Given the description of an element on the screen output the (x, y) to click on. 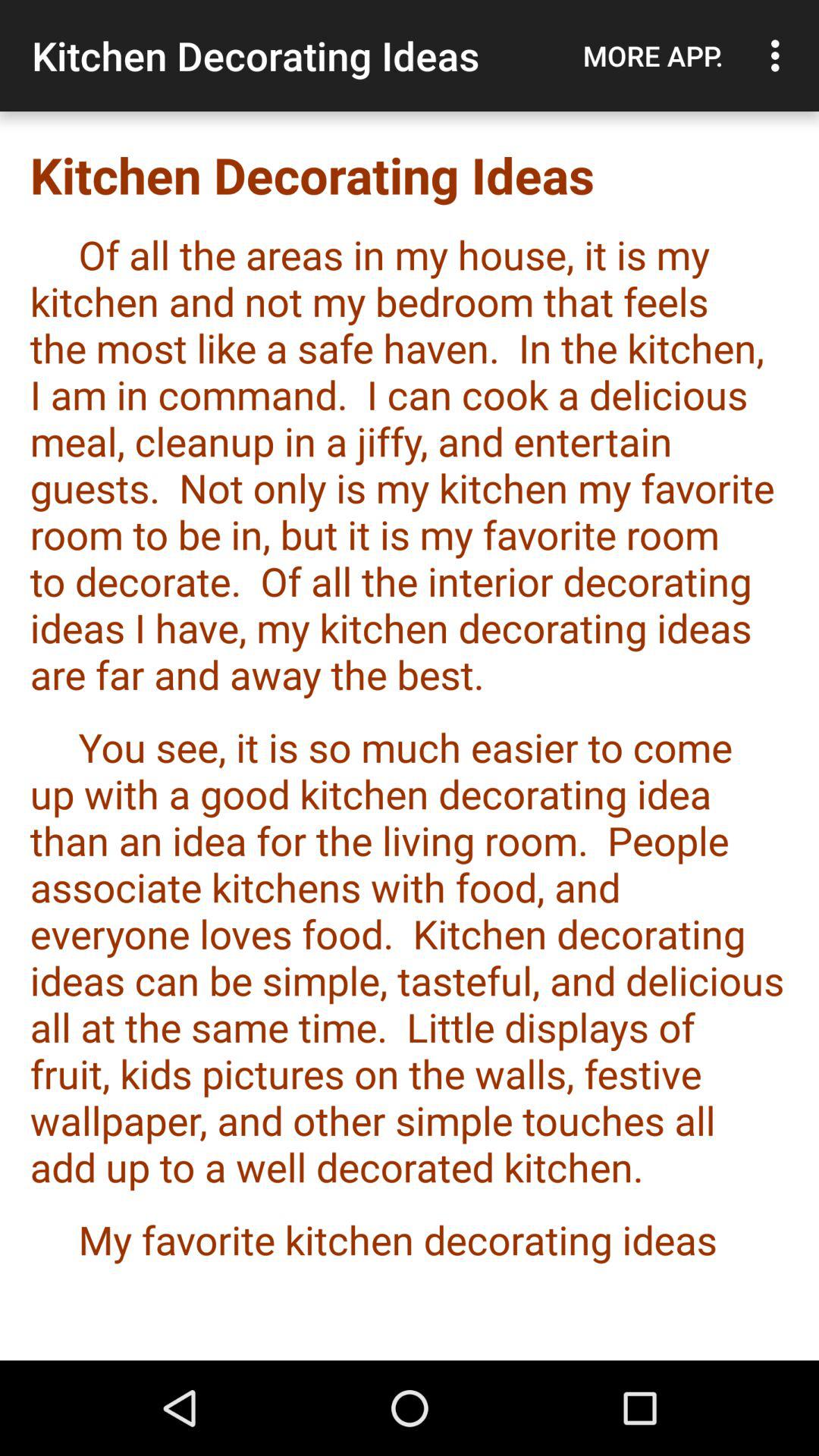
jump until more app. (653, 55)
